Given the description of an element on the screen output the (x, y) to click on. 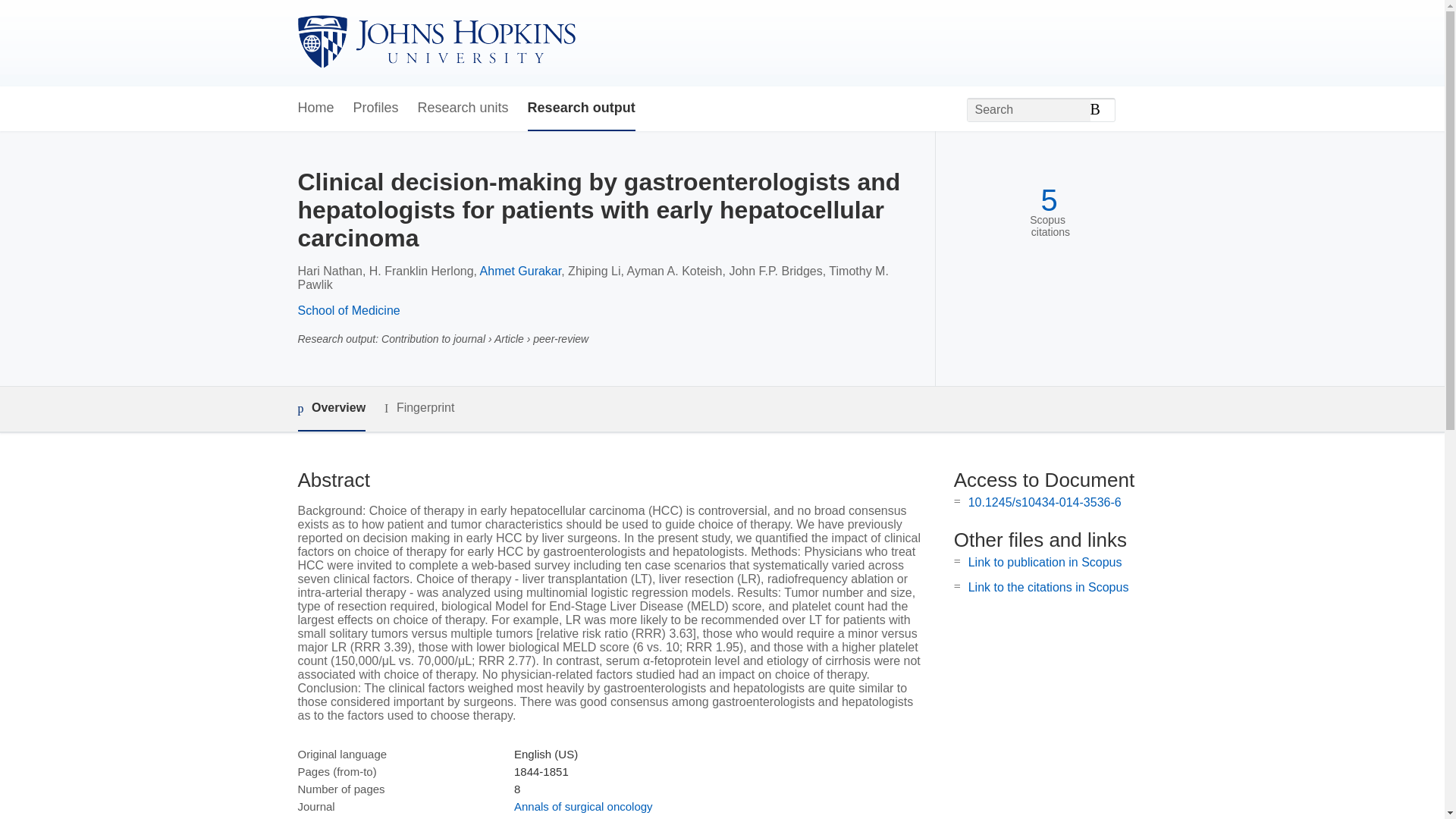
Johns Hopkins University Home (436, 43)
Fingerprint (419, 407)
Home (315, 108)
5 (1049, 200)
Link to publication in Scopus (1045, 562)
Annals of surgical oncology (582, 806)
Overview (331, 408)
School of Medicine (347, 309)
Profiles (375, 108)
Ahmet Gurakar (521, 270)
Research output (580, 108)
Link to the citations in Scopus (1048, 586)
Research units (462, 108)
